Given the description of an element on the screen output the (x, y) to click on. 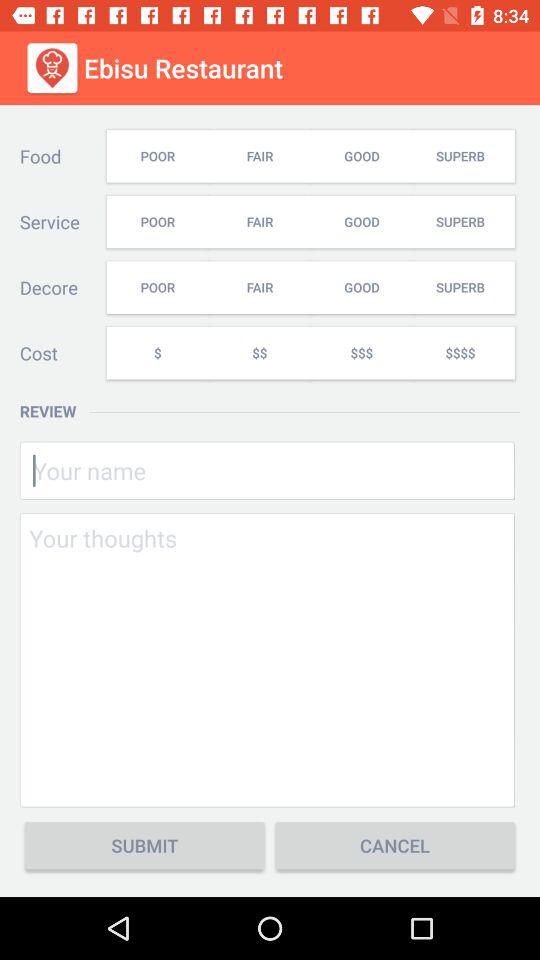
turn on icon below poor item (157, 352)
